Given the description of an element on the screen output the (x, y) to click on. 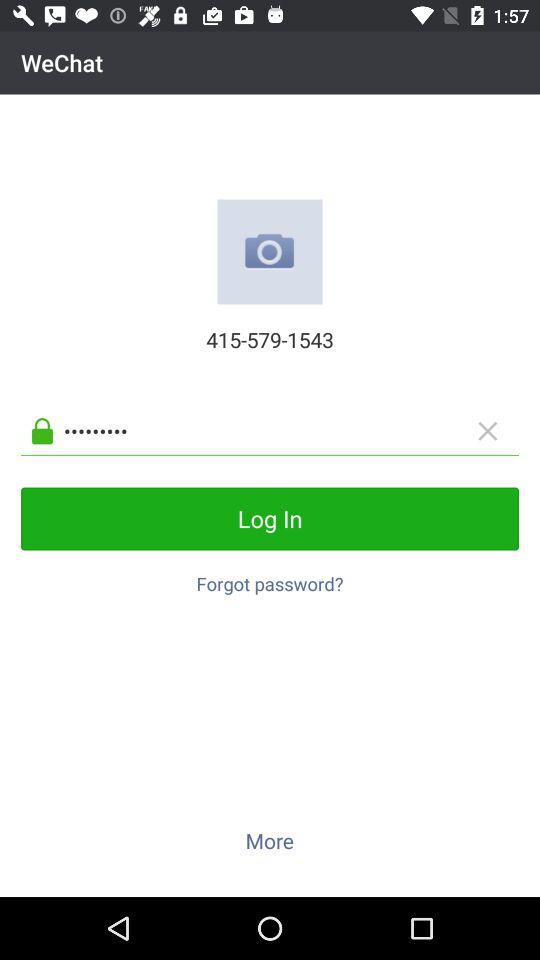
launch the crowd3116 (285, 430)
